Given the description of an element on the screen output the (x, y) to click on. 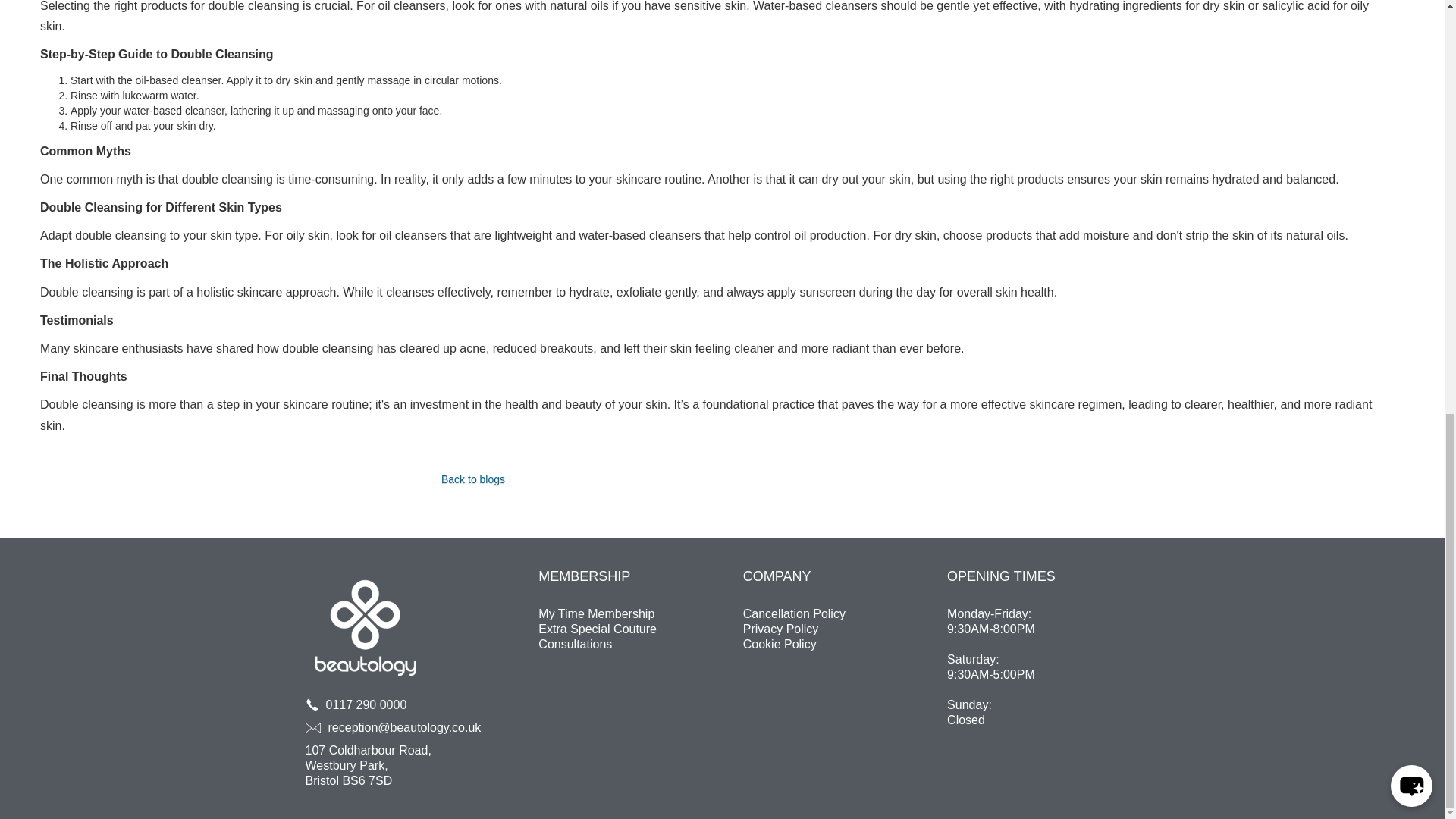
Privacy Policy (838, 629)
My Time Membership (595, 613)
0117 290 0000 (384, 705)
Cookie Policy (838, 644)
Cancellation Policy (838, 613)
Extra Special Couture Consultations (634, 636)
Back to blogs (473, 479)
